Given the description of an element on the screen output the (x, y) to click on. 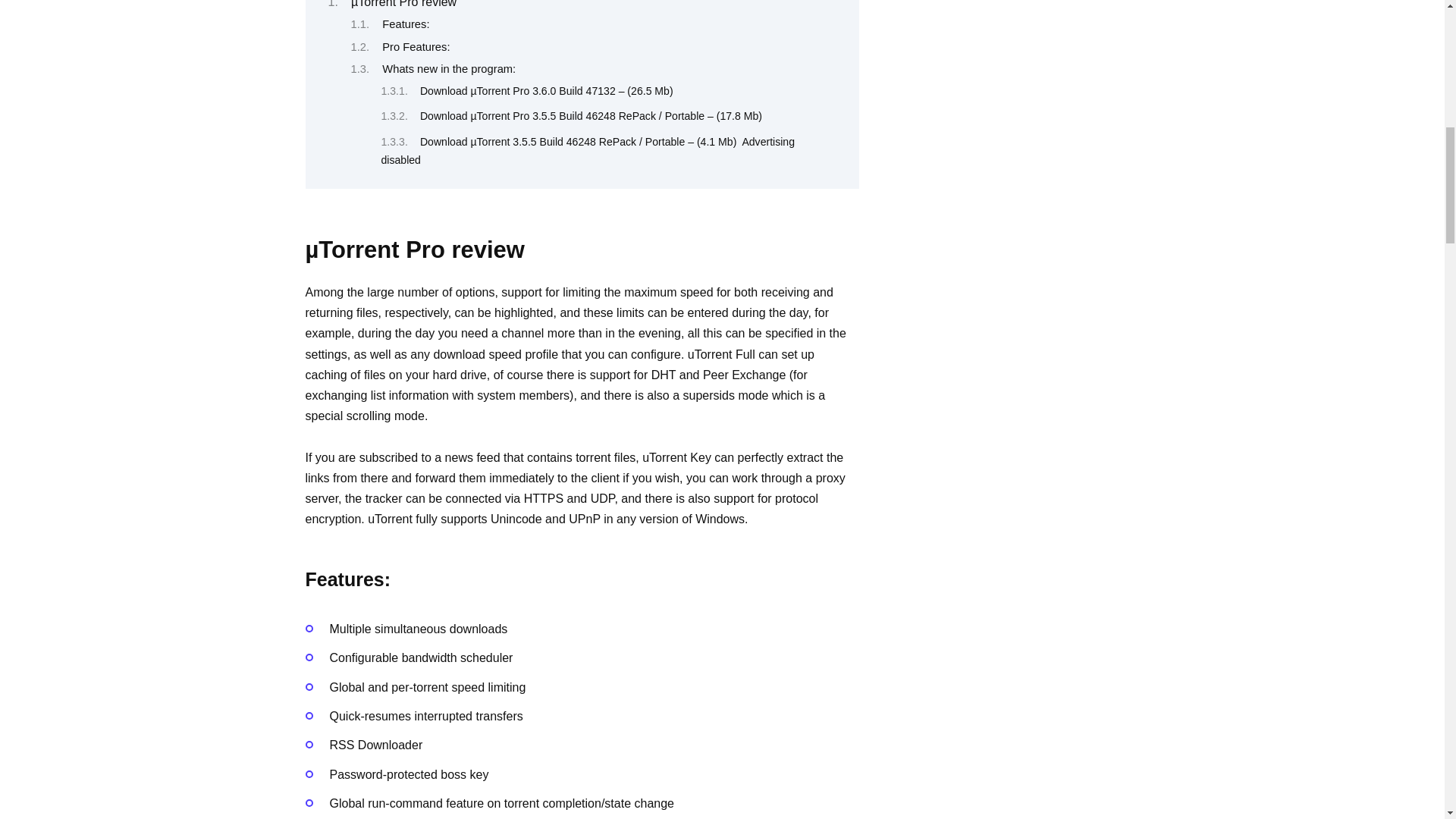
Pro Features: (415, 46)
Whats new in the program: (448, 69)
Features: (405, 24)
